Given the description of an element on the screen output the (x, y) to click on. 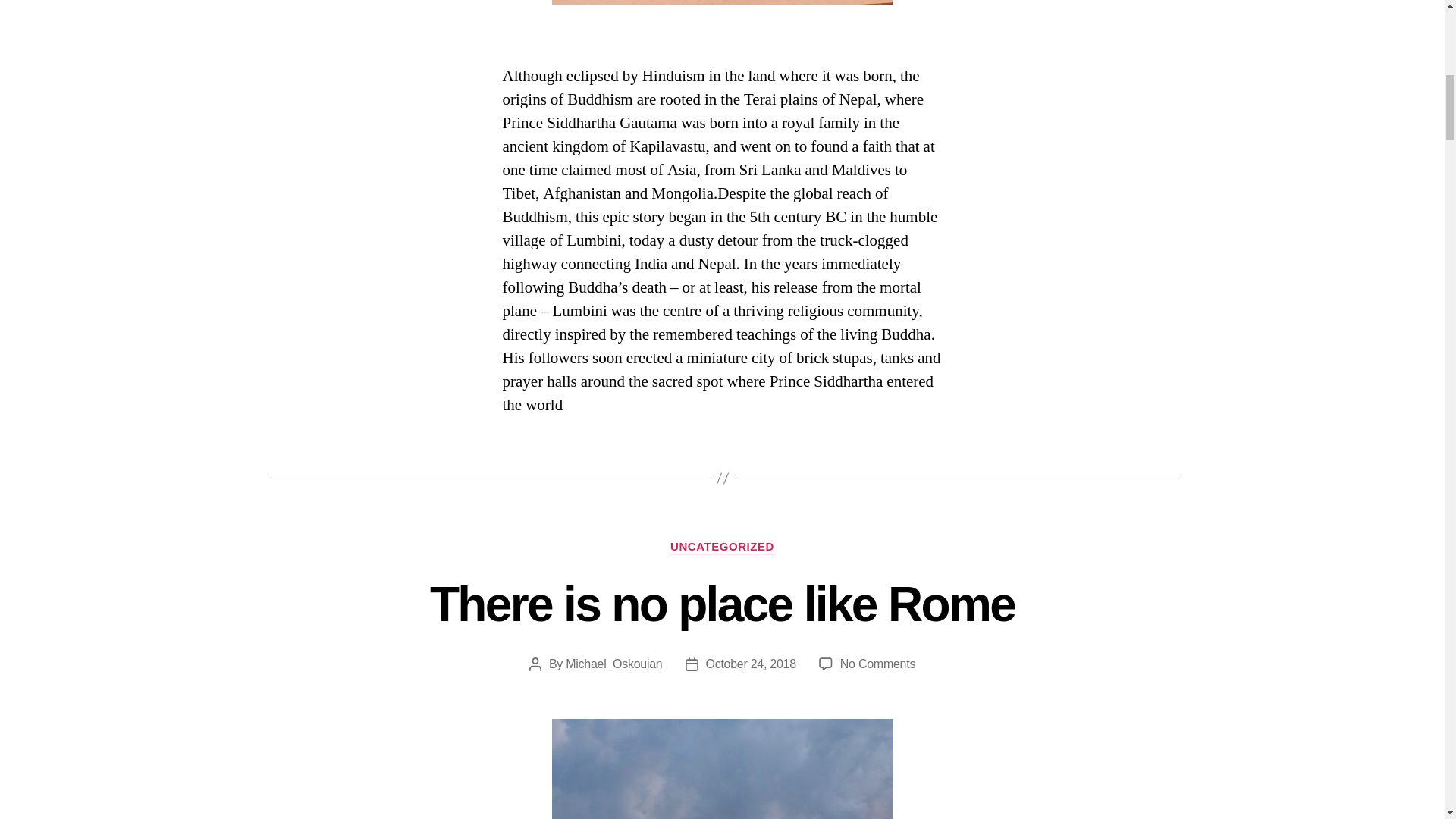
No Comments (877, 663)
There is no place like Rome (721, 604)
October 24, 2018 (749, 663)
UNCATEGORIZED (721, 547)
